Given the description of an element on the screen output the (x, y) to click on. 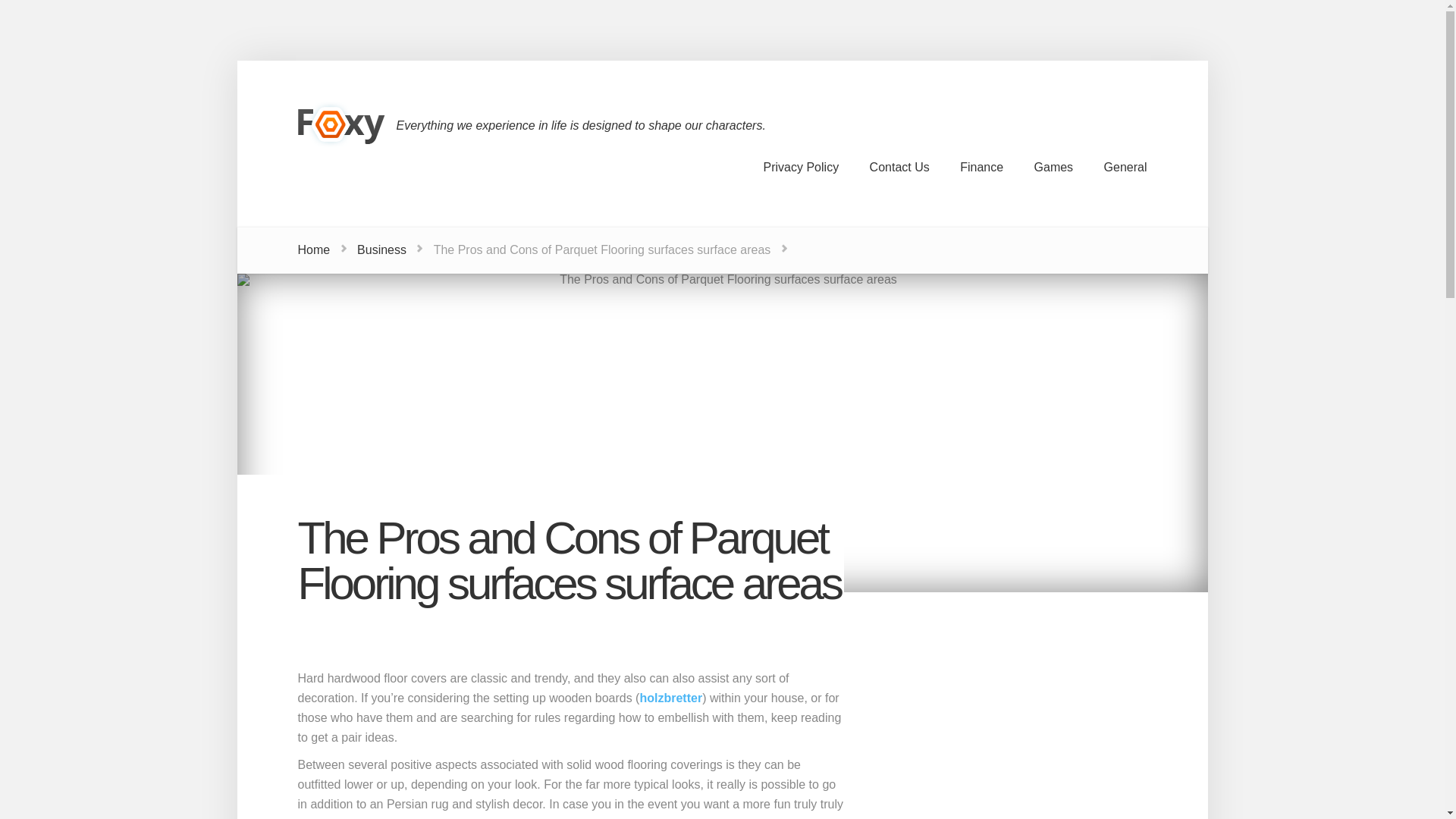
General (1125, 167)
Contact Us (899, 167)
Home (313, 249)
Finance (981, 167)
Privacy Policy (801, 167)
Games (1053, 167)
Business (381, 249)
holzbretter (670, 697)
